Given the description of an element on the screen output the (x, y) to click on. 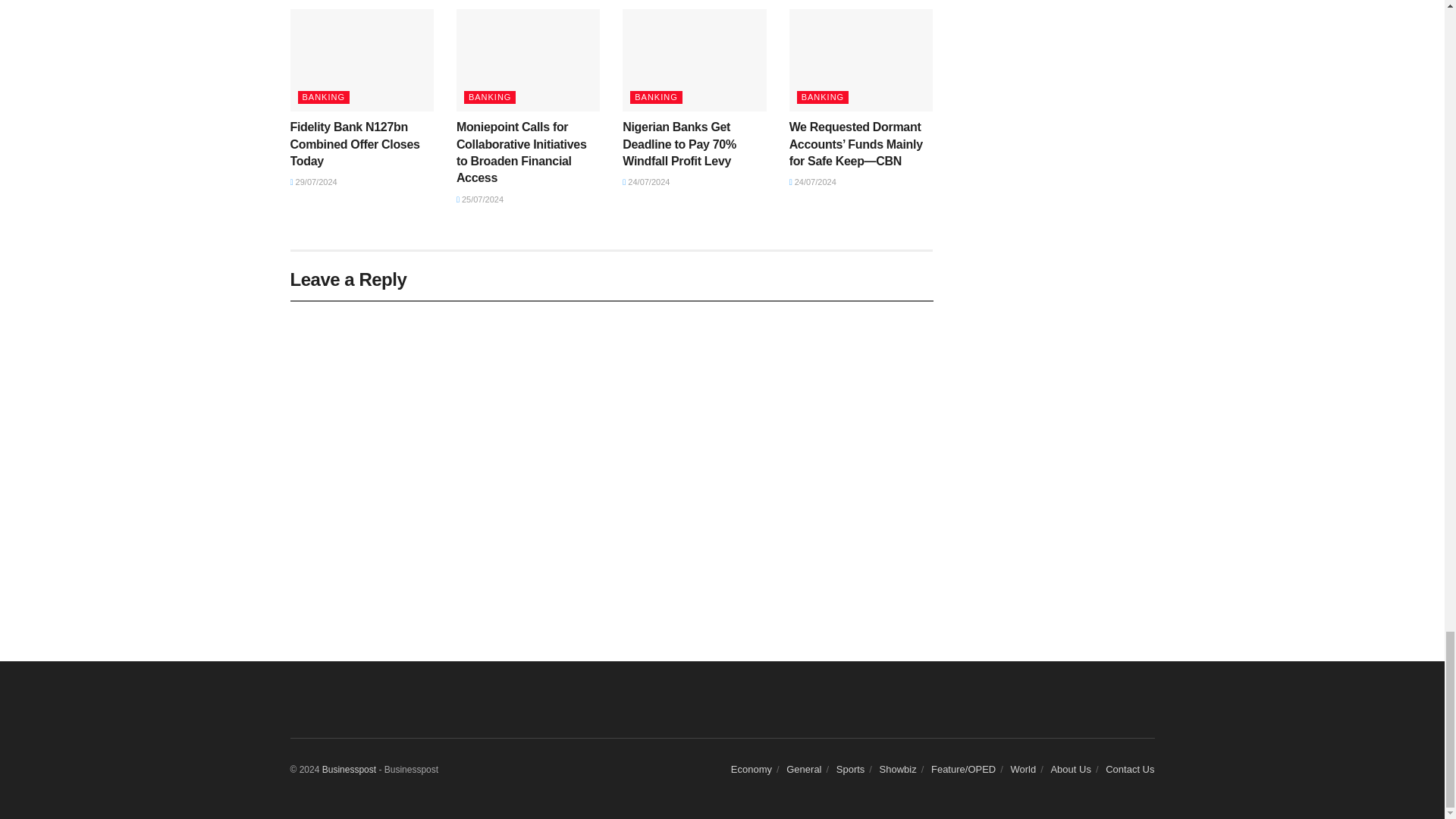
Businesspost (348, 769)
